Given the description of an element on the screen output the (x, y) to click on. 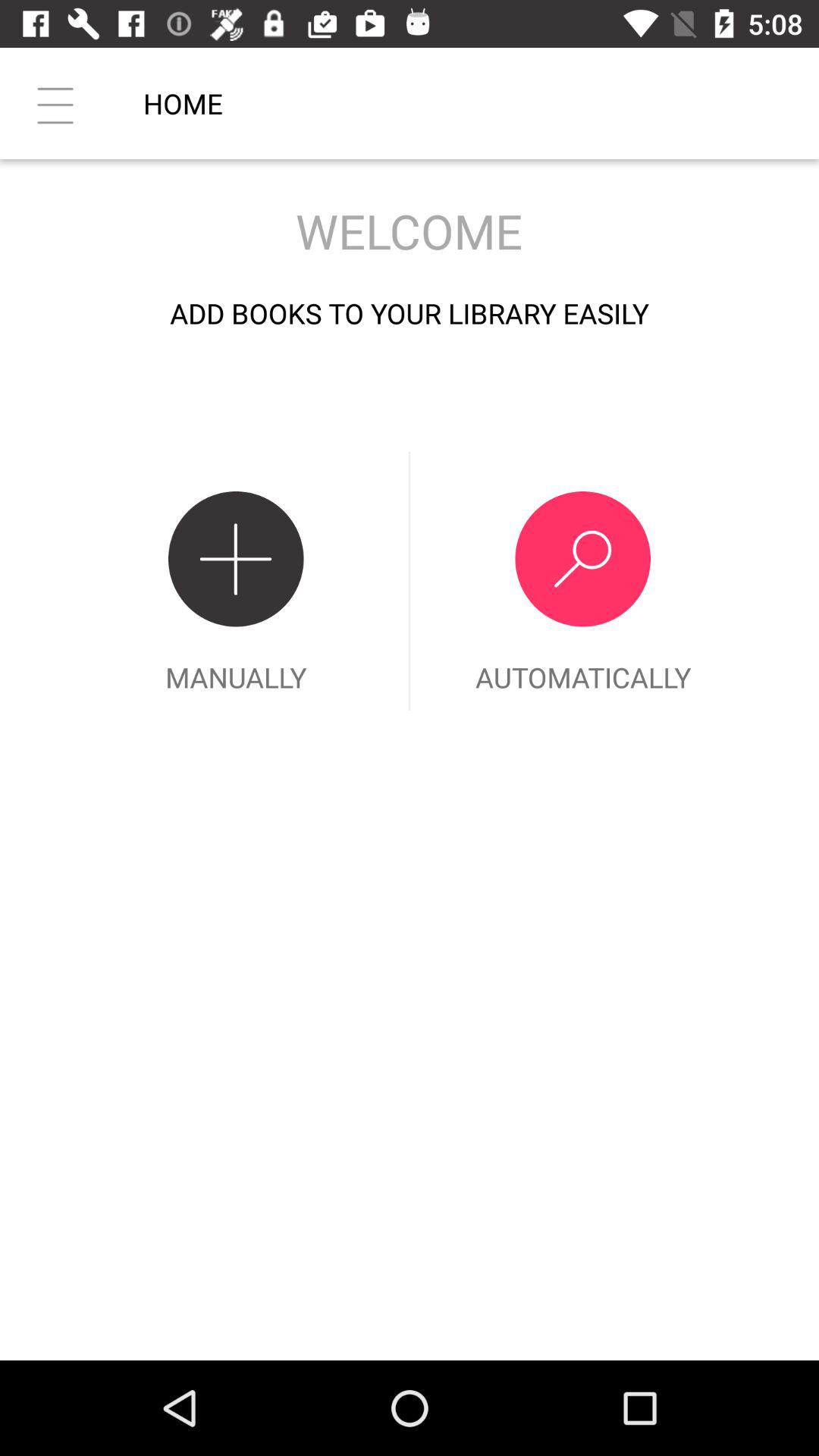
scroll until automatically item (582, 580)
